Given the description of an element on the screen output the (x, y) to click on. 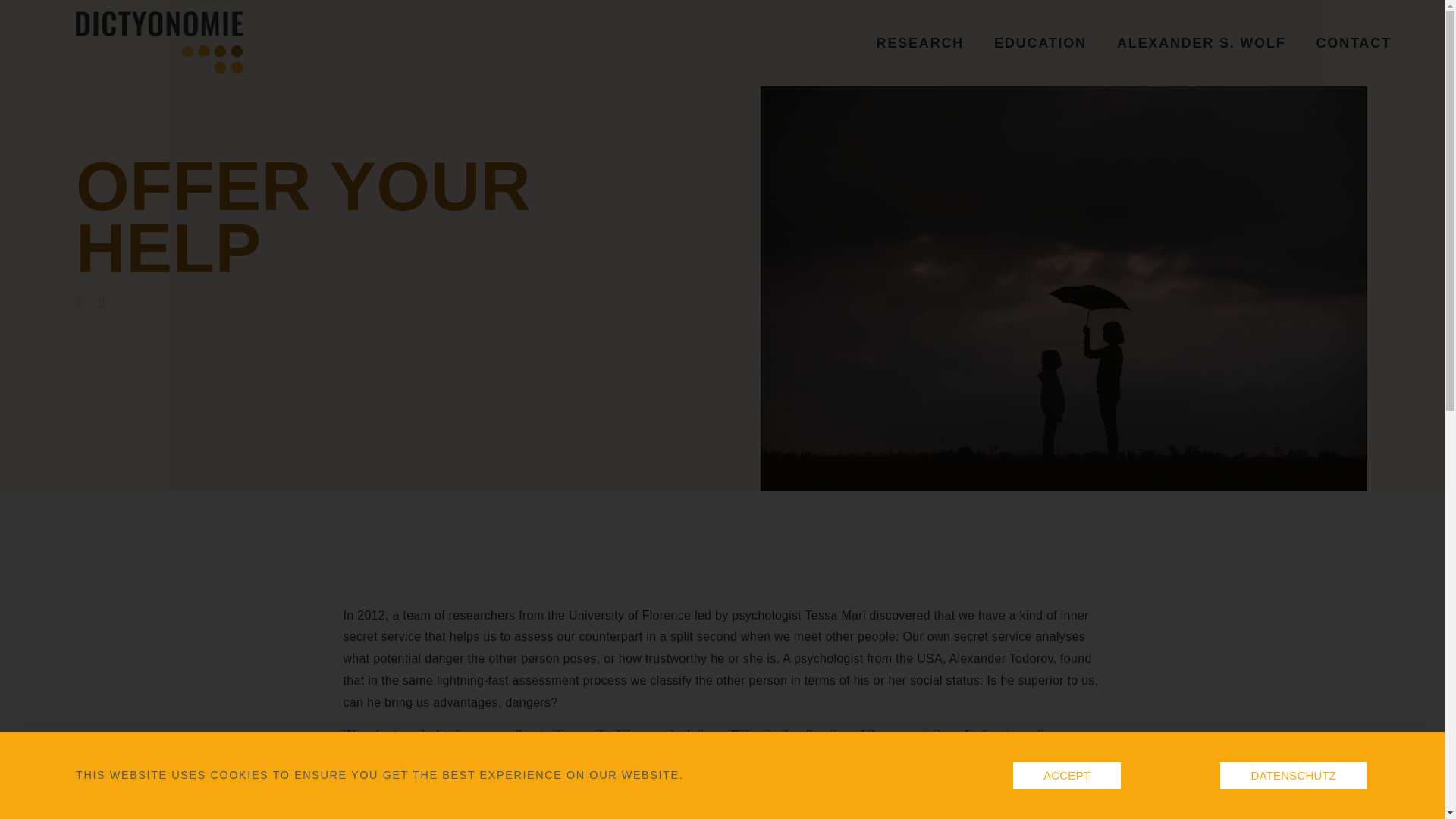
DATENSCHUTZ (1293, 775)
ACCEPT (1067, 775)
CONTACT (1353, 43)
ALEXANDER S. WOLF (1201, 43)
EDUCATION (1040, 43)
RESEARCH (919, 43)
